Given the description of an element on the screen output the (x, y) to click on. 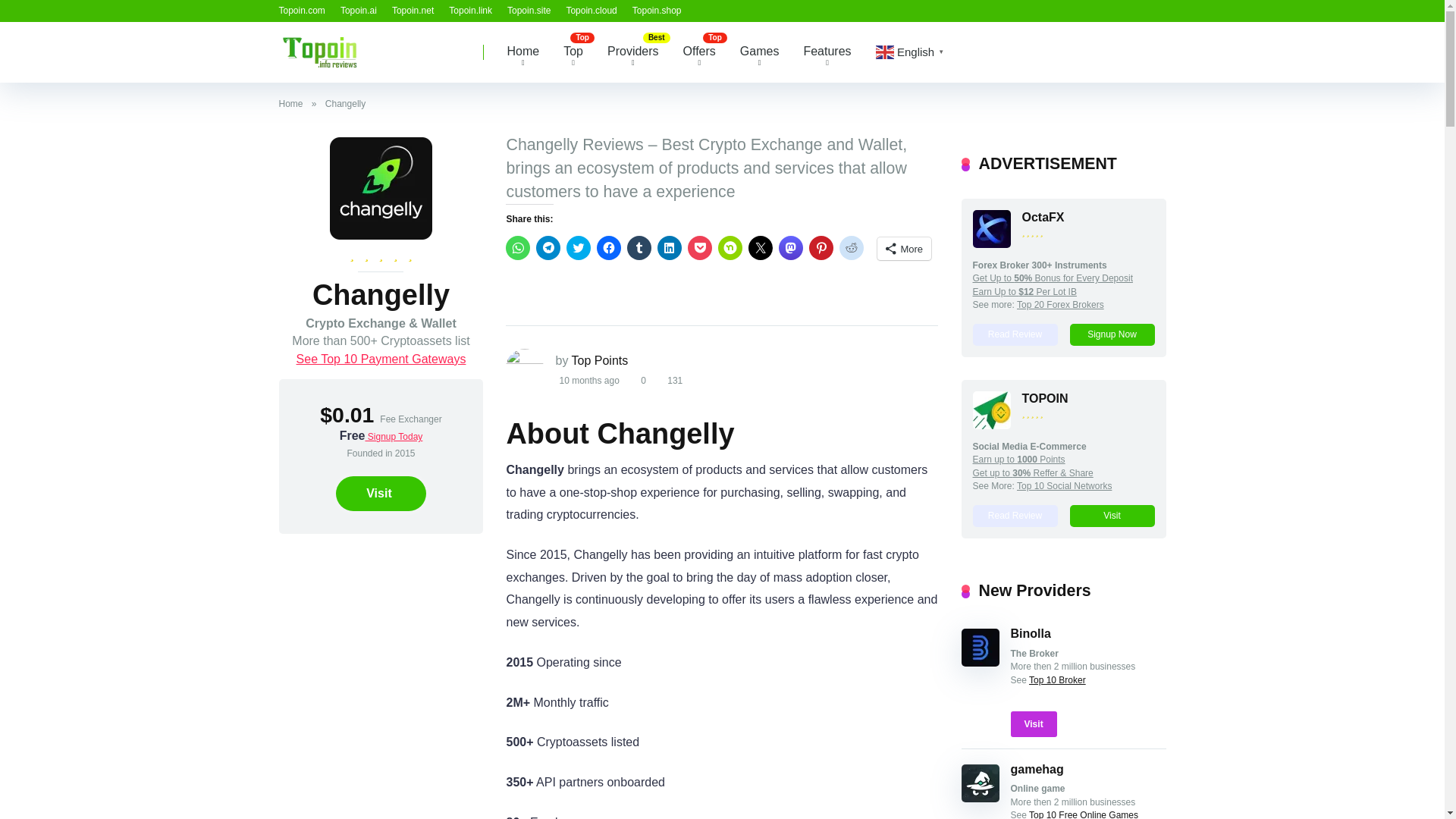
Visit (381, 493)
Topoin.shop (656, 9)
Topoin.link (470, 9)
Home (523, 52)
Topoin.ai (358, 9)
Click to share on Telegram (547, 247)
Top Points (319, 46)
Topoin.com (301, 9)
Topoin.net (412, 9)
Topoin.site (528, 9)
